Given the description of an element on the screen output the (x, y) to click on. 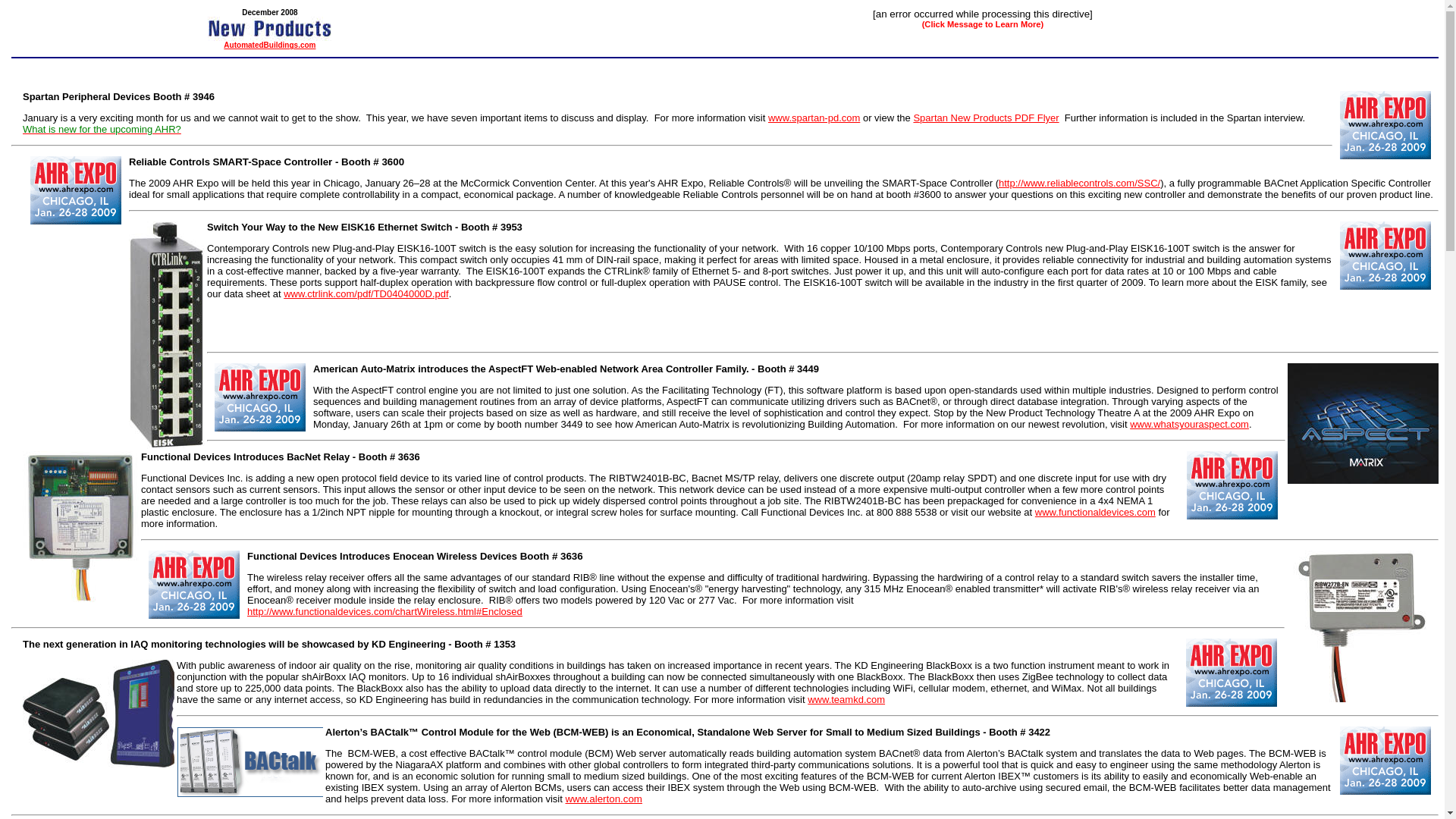
www.spartan-pd.com (814, 117)
www.alerton.com (603, 798)
AutomatedBuildings.com (269, 44)
Spartan New Products PDF Flyer (985, 117)
www.teamkd.com (846, 699)
www.whatsyouraspect.com (1189, 423)
www.functionaldevices.com (1095, 511)
What is new for the upcoming AHR? (101, 129)
